Given the description of an element on the screen output the (x, y) to click on. 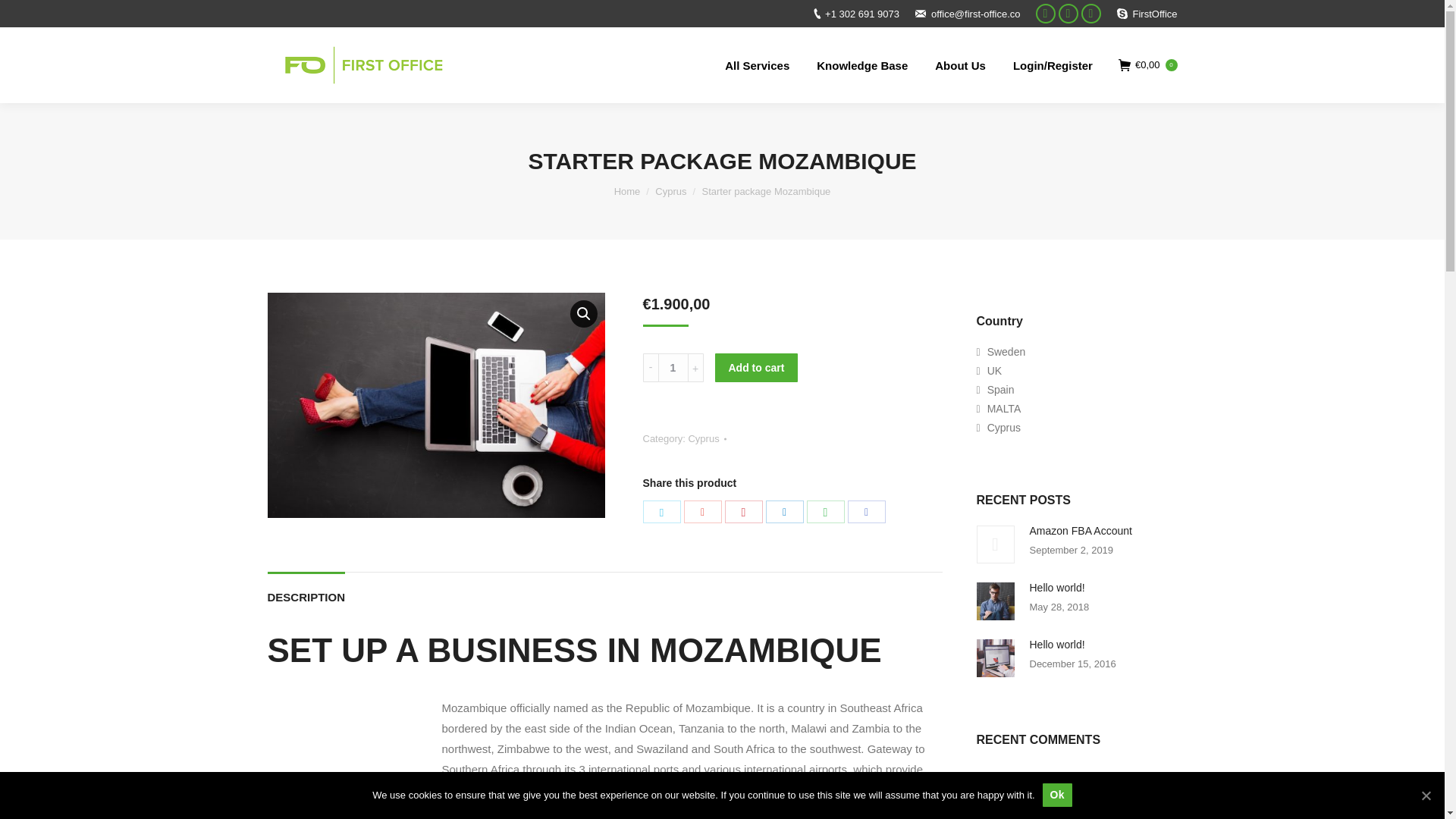
Whatsapp (1090, 13)
Facebook (866, 511)
Twitter (662, 511)
LinkedIn (784, 511)
Knowledge Base (862, 64)
About Us (959, 64)
Facebook (1045, 13)
Facebook (1045, 13)
Home (627, 191)
1 (673, 367)
Twitter (1068, 13)
Qty (673, 367)
Whatsapp (1090, 13)
WhatsApp (825, 511)
Twitter (1068, 13)
